Given the description of an element on the screen output the (x, y) to click on. 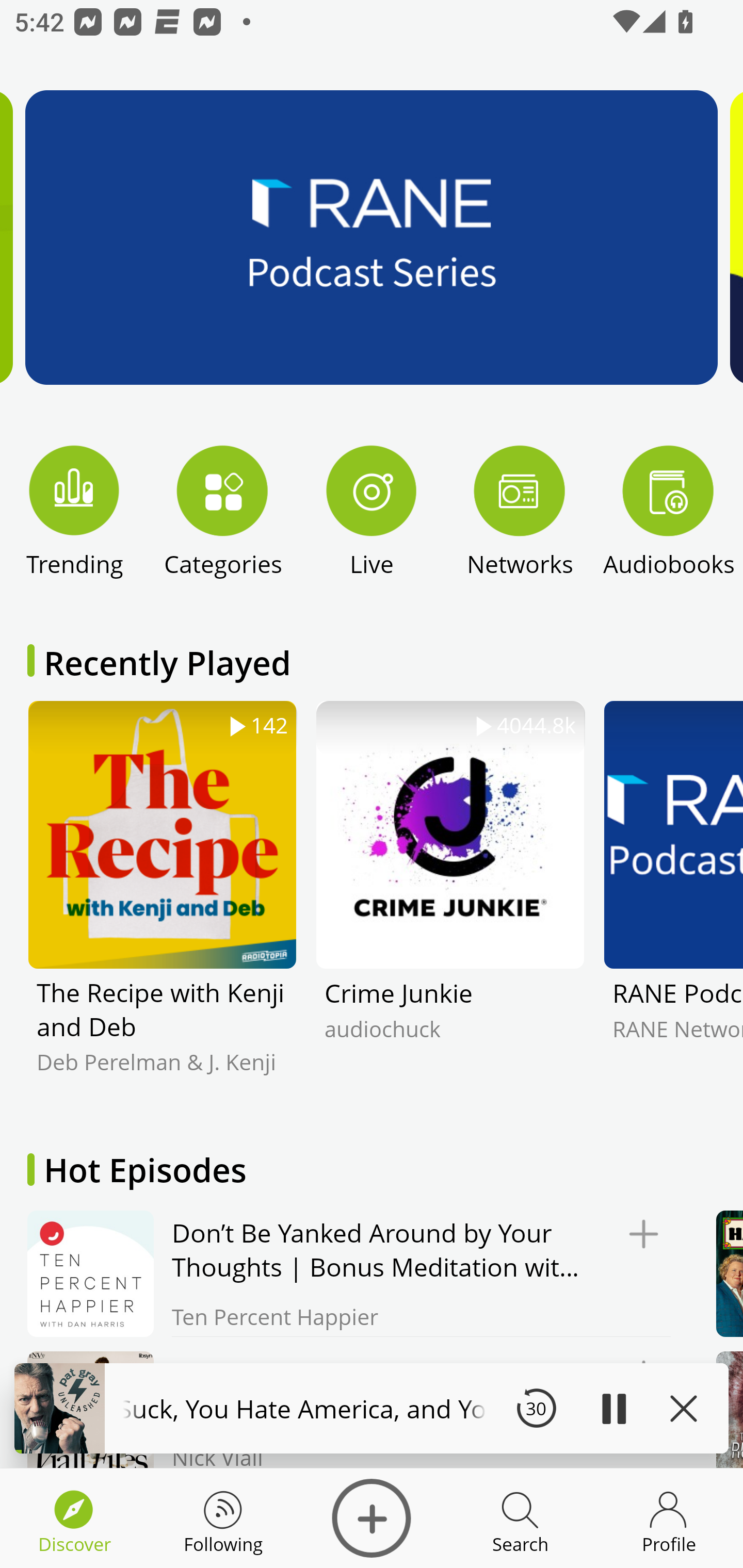
4044.8k Crime Junkie audiochuck (450, 902)
RANE Podcast Series RANE Network (673, 902)
Play (613, 1407)
30 Seek Backward (536, 1407)
Discover Following (222, 1518)
Discover (371, 1518)
Discover Search (519, 1518)
Discover Profile (668, 1518)
